Given the description of an element on the screen output the (x, y) to click on. 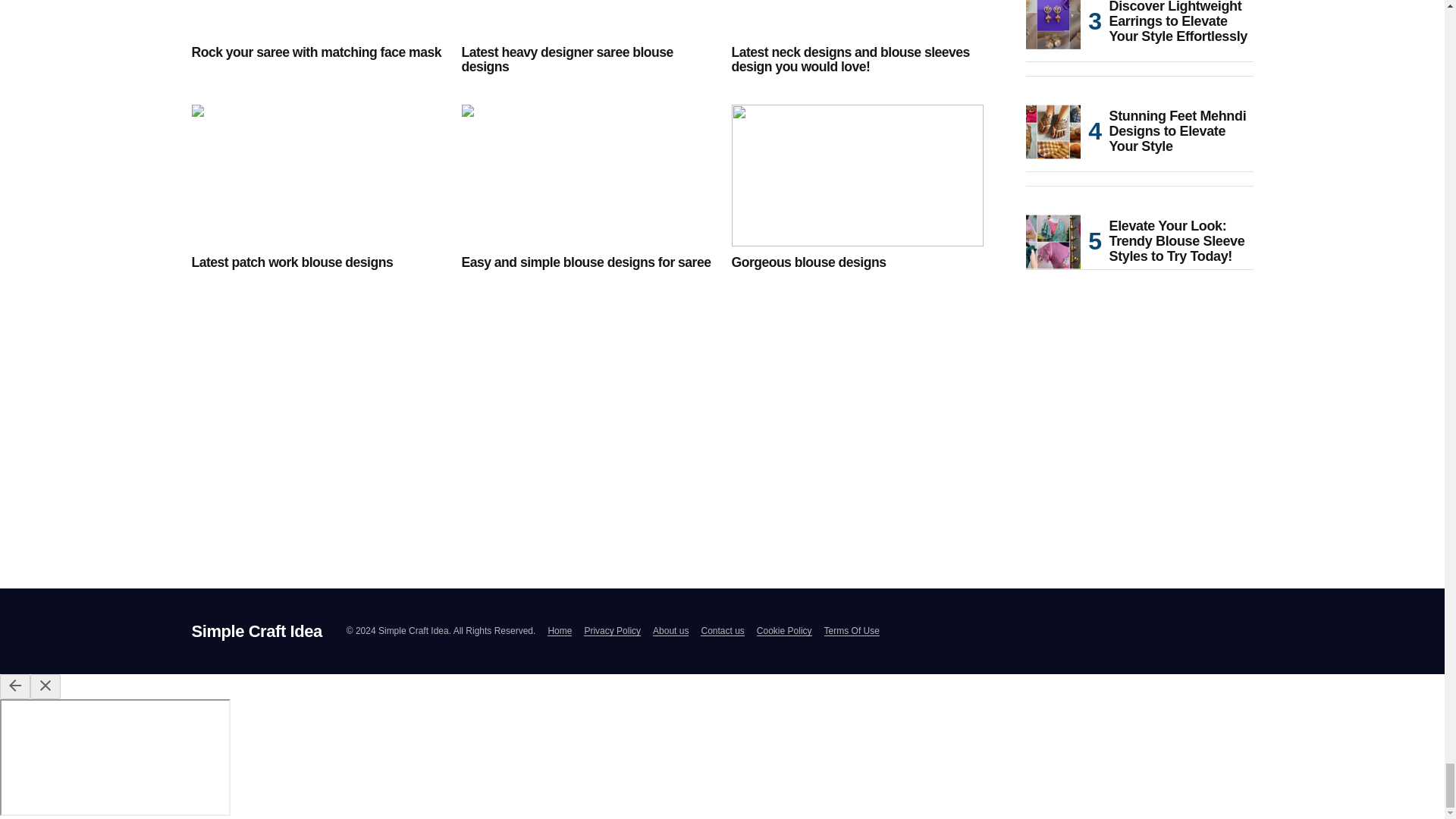
Gorgeous blouse designs (856, 262)
Easy and simple blouse designs for saree (587, 175)
Latest patch work blouse designs (316, 262)
Latest patch work blouse designs (316, 175)
Gorgeous blouse designs (856, 175)
Latest heavy designer saree blouse designs (587, 60)
Rock your saree with matching face mask (316, 18)
Rock your saree with matching face mask (316, 52)
